Given the description of an element on the screen output the (x, y) to click on. 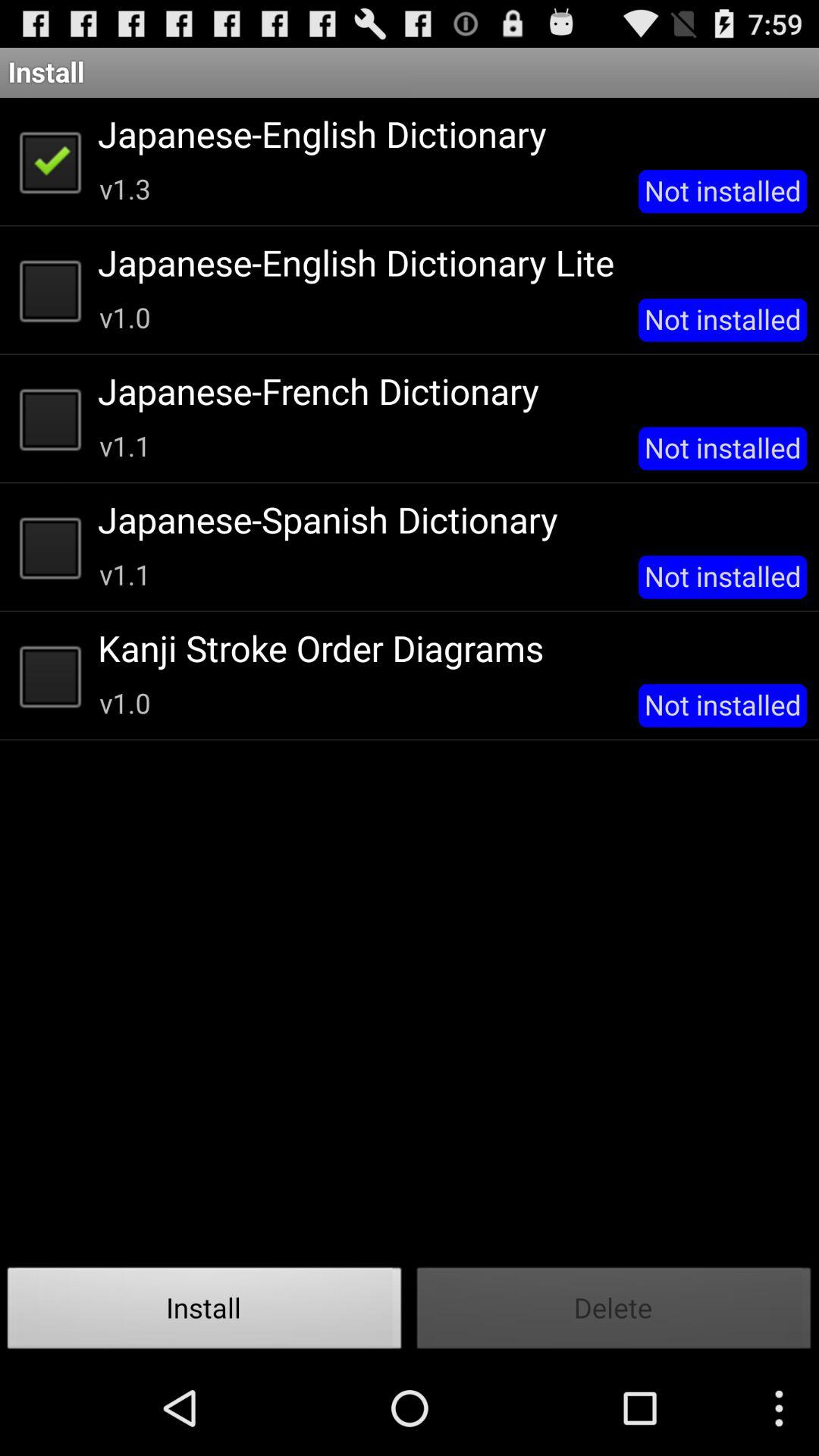
select the kanji stroke order app (447, 647)
